Given the description of an element on the screen output the (x, y) to click on. 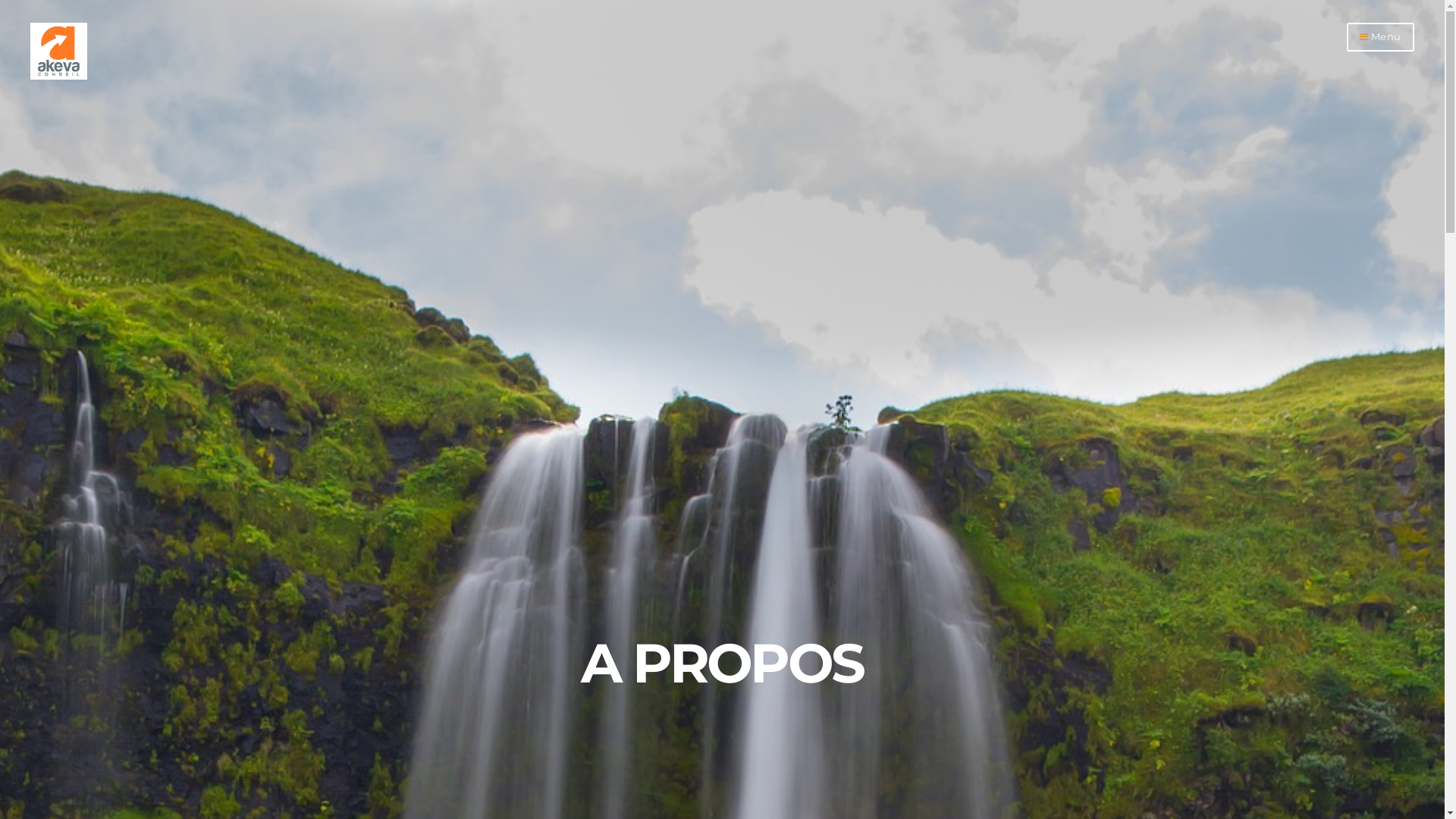
Menu Element type: text (1380, 36)
Akeva Conseil Element type: hover (58, 75)
